Given the description of an element on the screen output the (x, y) to click on. 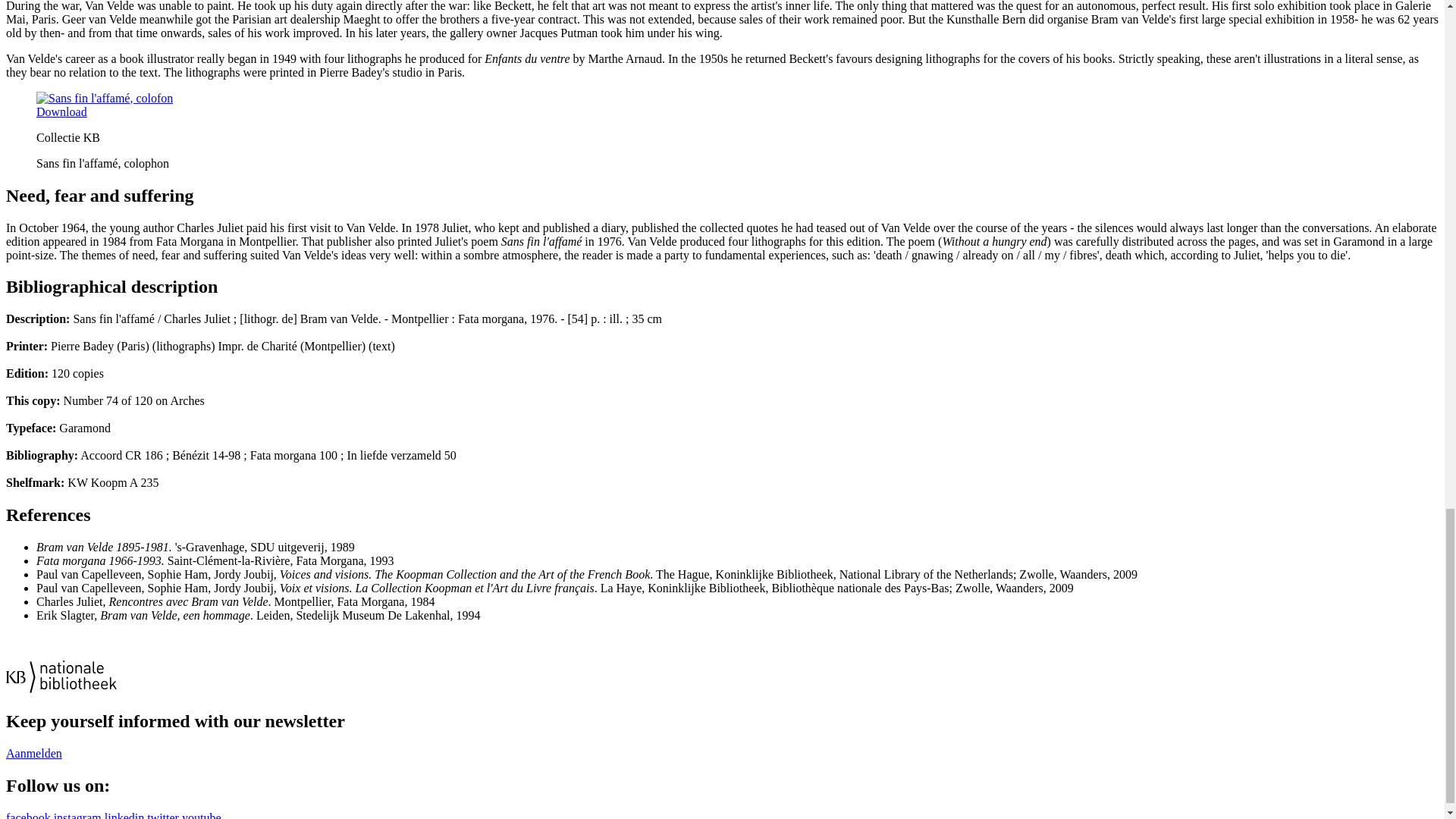
Home (60, 688)
kb-logo (60, 676)
sans-fin-laffame-colofon.jpg (61, 111)
Download (61, 111)
